Given the description of an element on the screen output the (x, y) to click on. 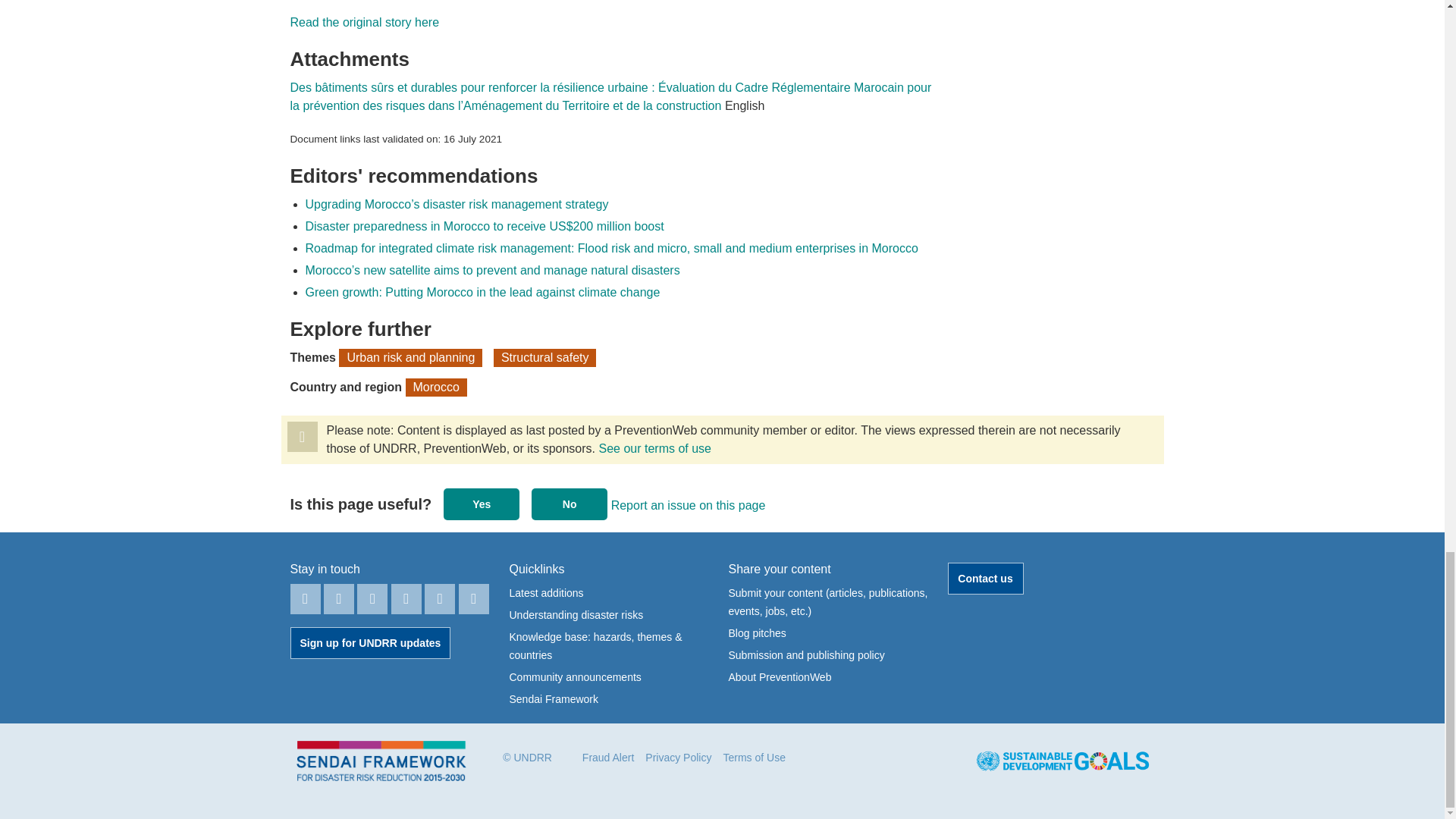
Read the original story here (364, 21)
